Given the description of an element on the screen output the (x, y) to click on. 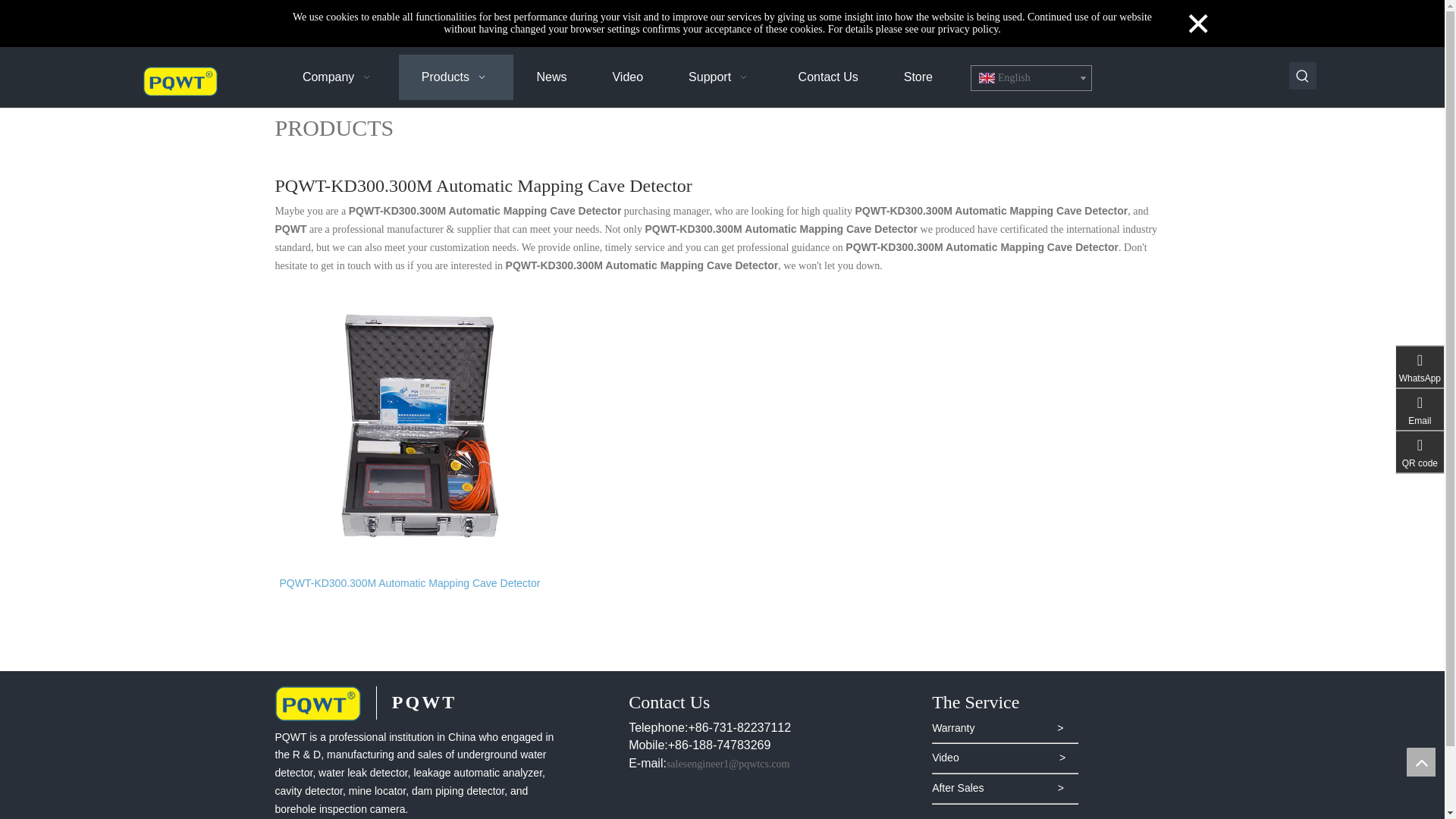
Company   (338, 76)
Logo (180, 81)
Contact Us (828, 76)
News (551, 76)
Video (627, 76)
Logo (317, 703)
Store (917, 76)
Products   (455, 76)
Support   (720, 76)
PQWT-KD300.300M Automatic Mapping Cave Detector (421, 581)
